Given the description of an element on the screen output the (x, y) to click on. 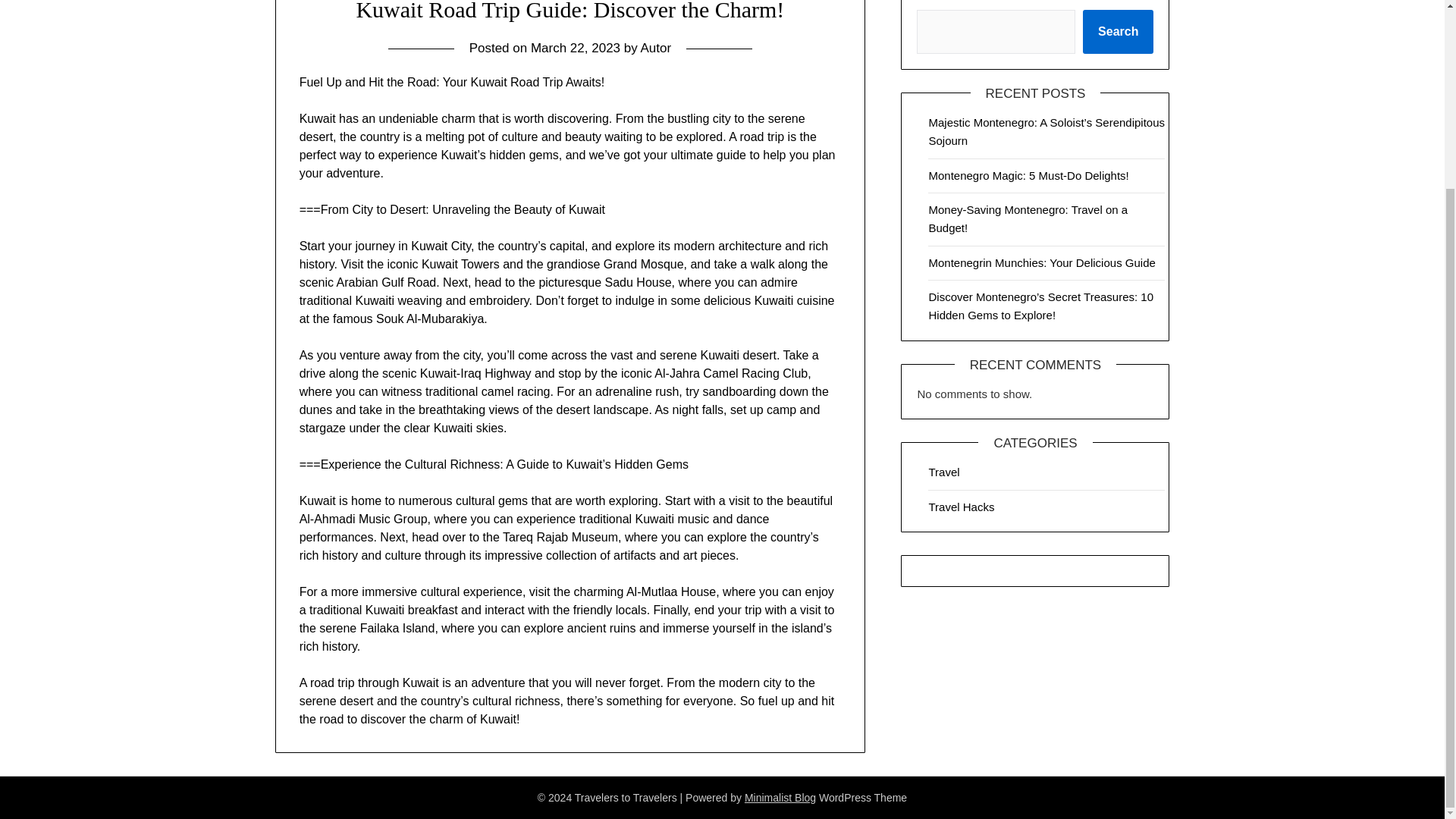
Money-Saving Montenegro: Travel on a Budget! (1027, 218)
Minimalist Blog (779, 797)
Search (1118, 31)
March 22, 2023 (575, 47)
Travel Hacks (961, 506)
Montenegro Magic: 5 Must-Do Delights! (1028, 174)
Autor (655, 47)
Montenegrin Munchies: Your Delicious Guide (1041, 262)
Travel (943, 472)
